Given the description of an element on the screen output the (x, y) to click on. 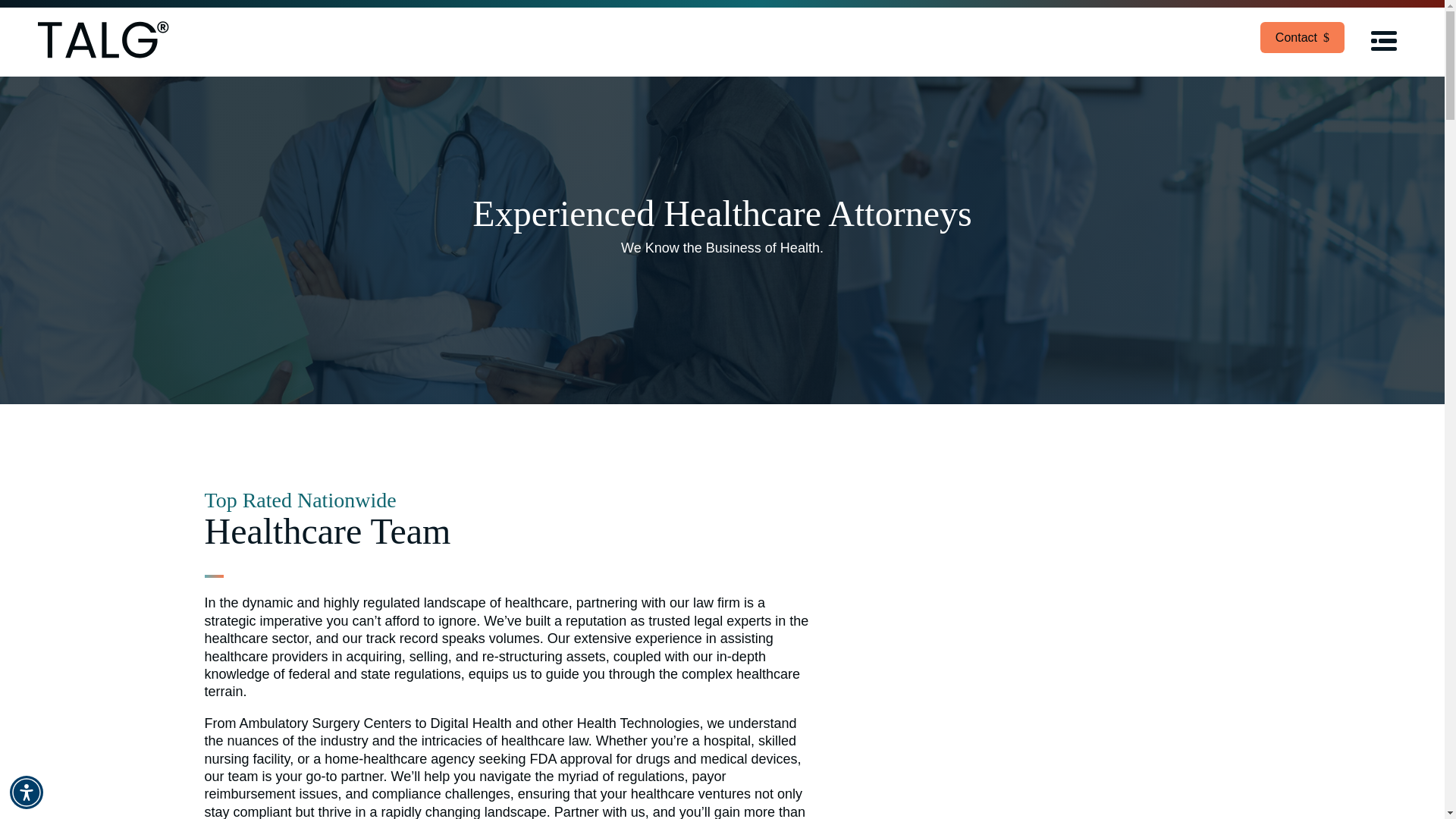
Accessibility Menu (26, 792)
TALG Home (102, 42)
Contact (1301, 37)
TitleLine (214, 576)
